Given the description of an element on the screen output the (x, y) to click on. 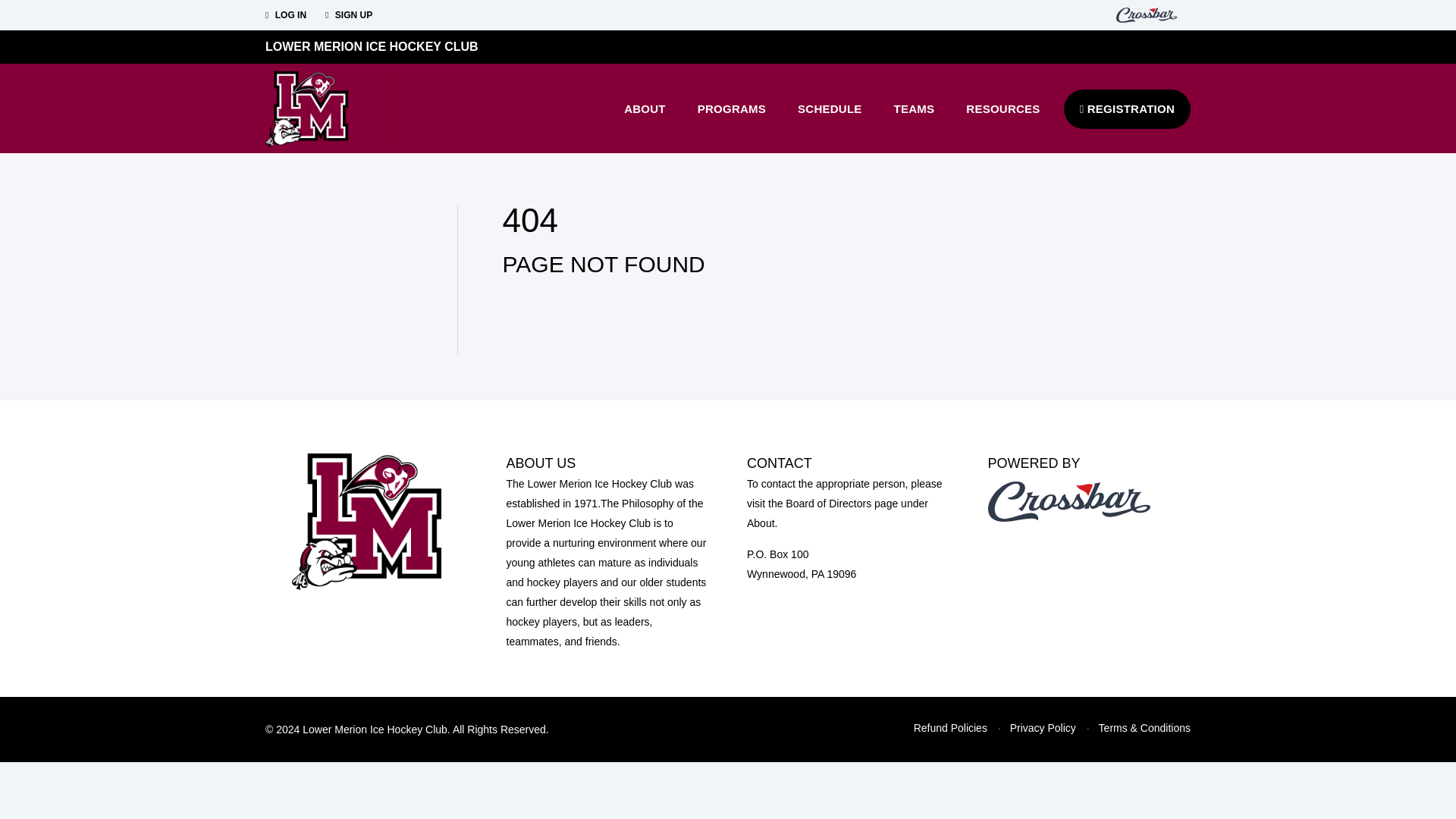
SCHEDULE (829, 108)
SIGN UP (348, 15)
ABOUT (644, 108)
LOWER MERION ICE HOCKEY CLUB (371, 46)
LOG IN (284, 15)
TEAMS (913, 108)
PROGRAMS (731, 108)
